Given the description of an element on the screen output the (x, y) to click on. 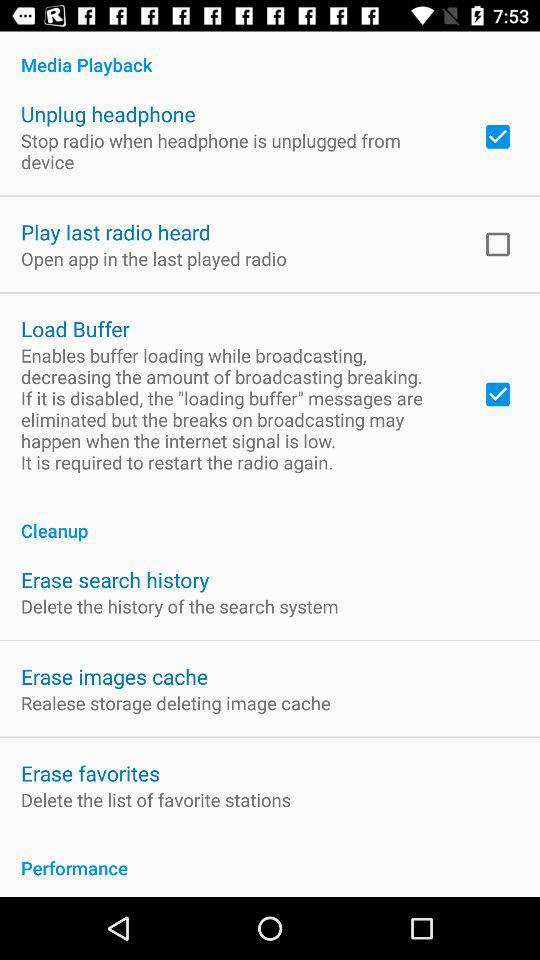
select item above the play last radio (238, 151)
